Given the description of an element on the screen output the (x, y) to click on. 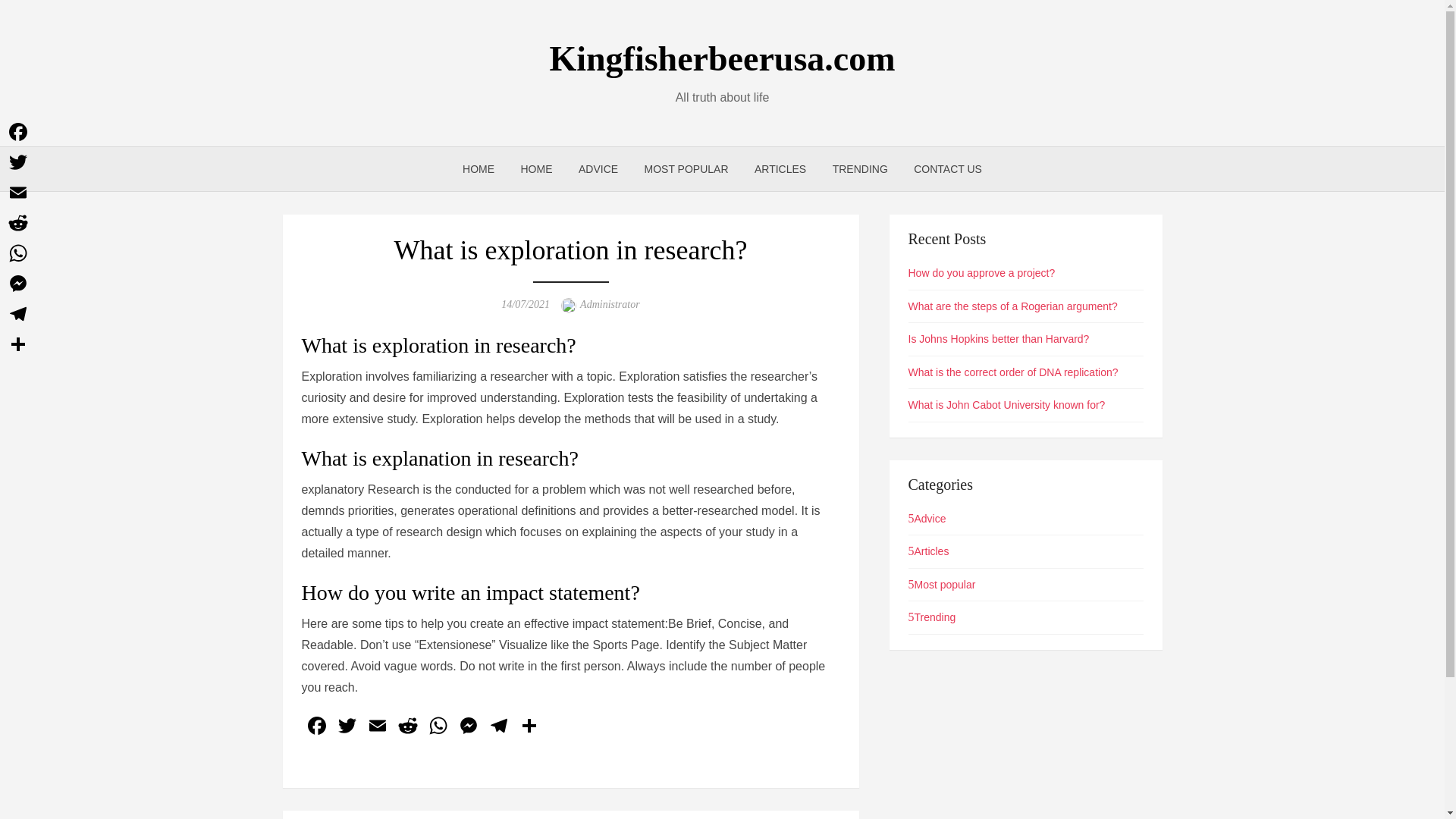
Email (17, 192)
Email (17, 192)
Reddit (17, 223)
Telegram (498, 727)
Reddit (408, 727)
Messenger (17, 283)
Email (377, 727)
MOST POPULAR (686, 168)
Administrator (609, 304)
Twitter (346, 727)
Email (377, 727)
Facebook (17, 132)
Is Johns Hopkins better than Harvard? (998, 338)
Reddit (408, 727)
Telegram (17, 313)
